Given the description of an element on the screen output the (x, y) to click on. 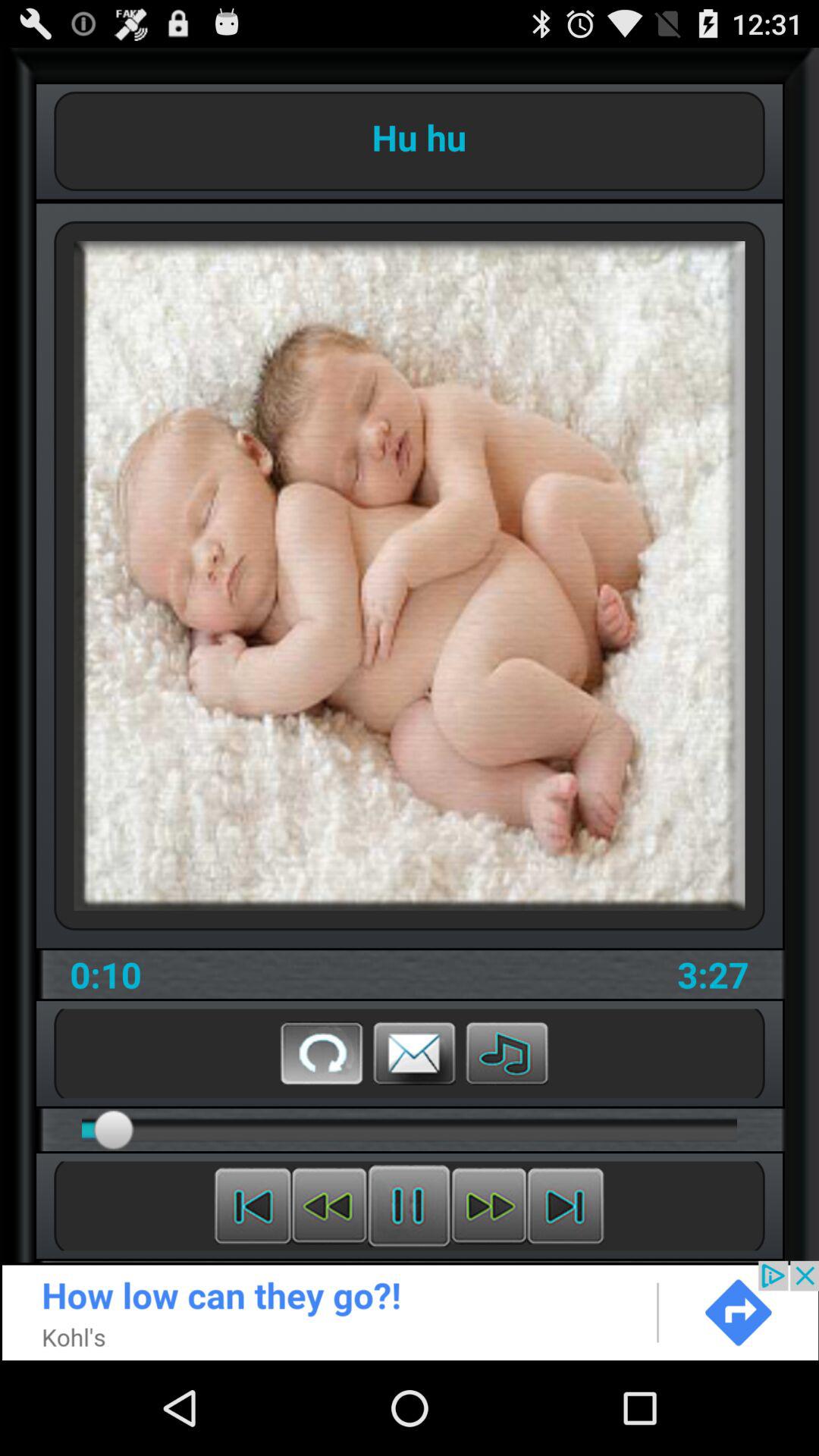
rewind (329, 1205)
